Given the description of an element on the screen output the (x, y) to click on. 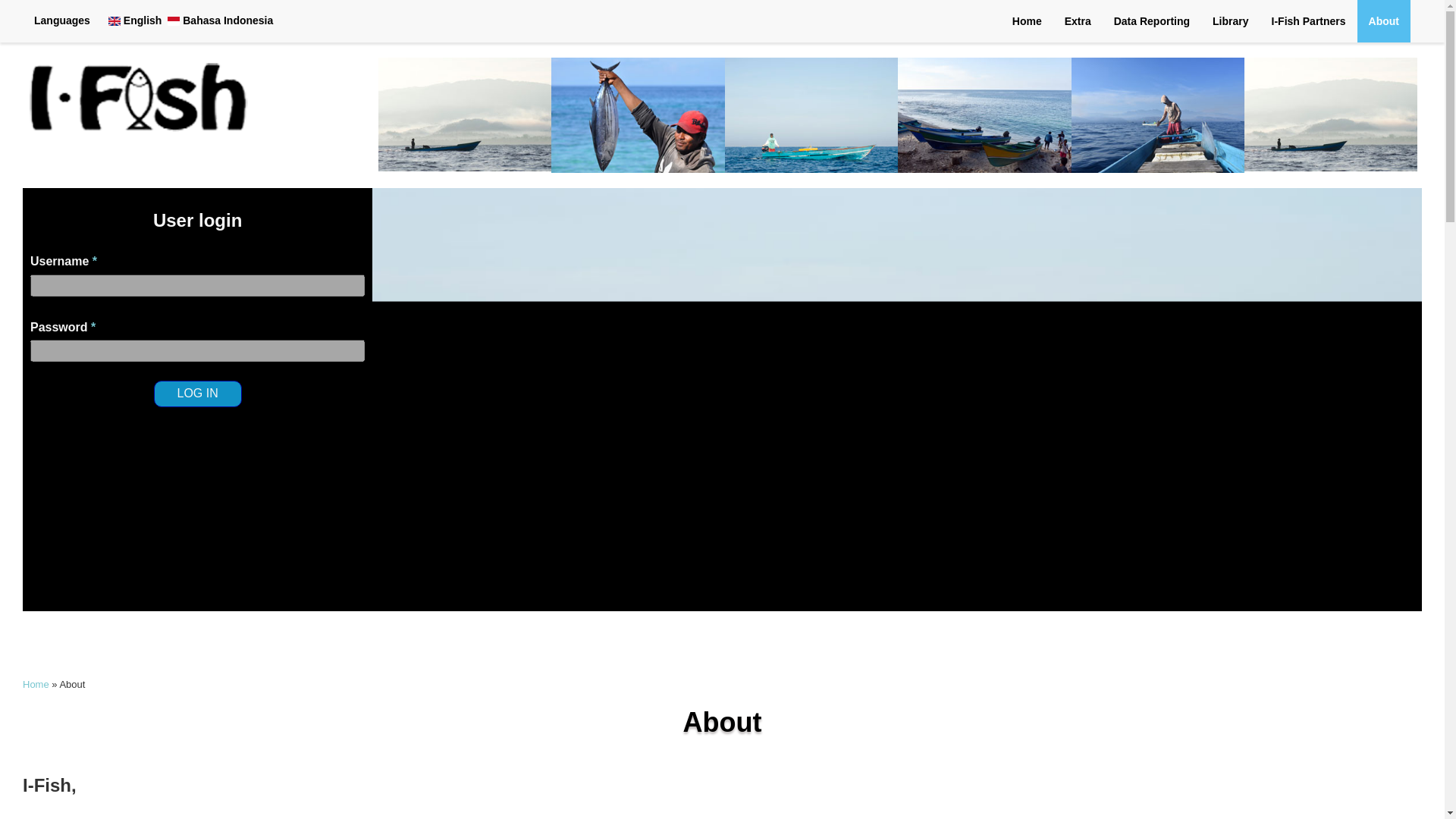
Bahasa Indonesia (220, 20)
Reporting With R (1151, 21)
Data Reporting (1151, 21)
I-Fish Partners (1308, 21)
Library (1230, 21)
Log in (196, 393)
Extra (1077, 21)
About (1383, 21)
English (113, 20)
Home (1026, 21)
Home (36, 684)
Bahasa Indonesia (173, 20)
This field is required. (95, 260)
English (134, 20)
This field is required. (93, 327)
